Given the description of an element on the screen output the (x, y) to click on. 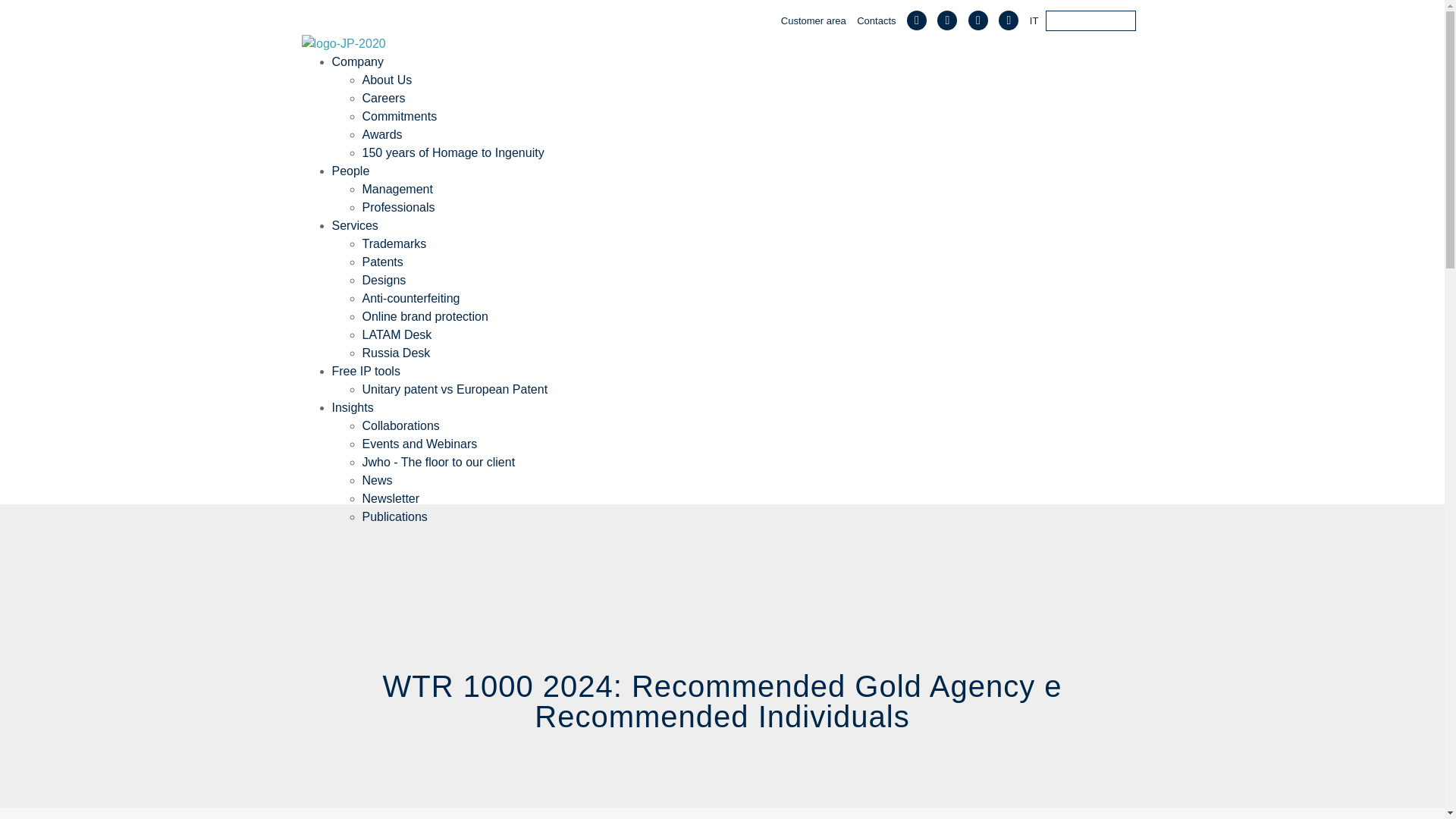
Jwho - The floor to our client (438, 461)
Professionals (398, 206)
Russia Desk (396, 352)
Contacts (876, 20)
People (350, 170)
Customer area (812, 20)
Anti-counterfeiting (411, 297)
Trademarks (394, 243)
Collaborations (400, 425)
News (377, 480)
